Given the description of an element on the screen output the (x, y) to click on. 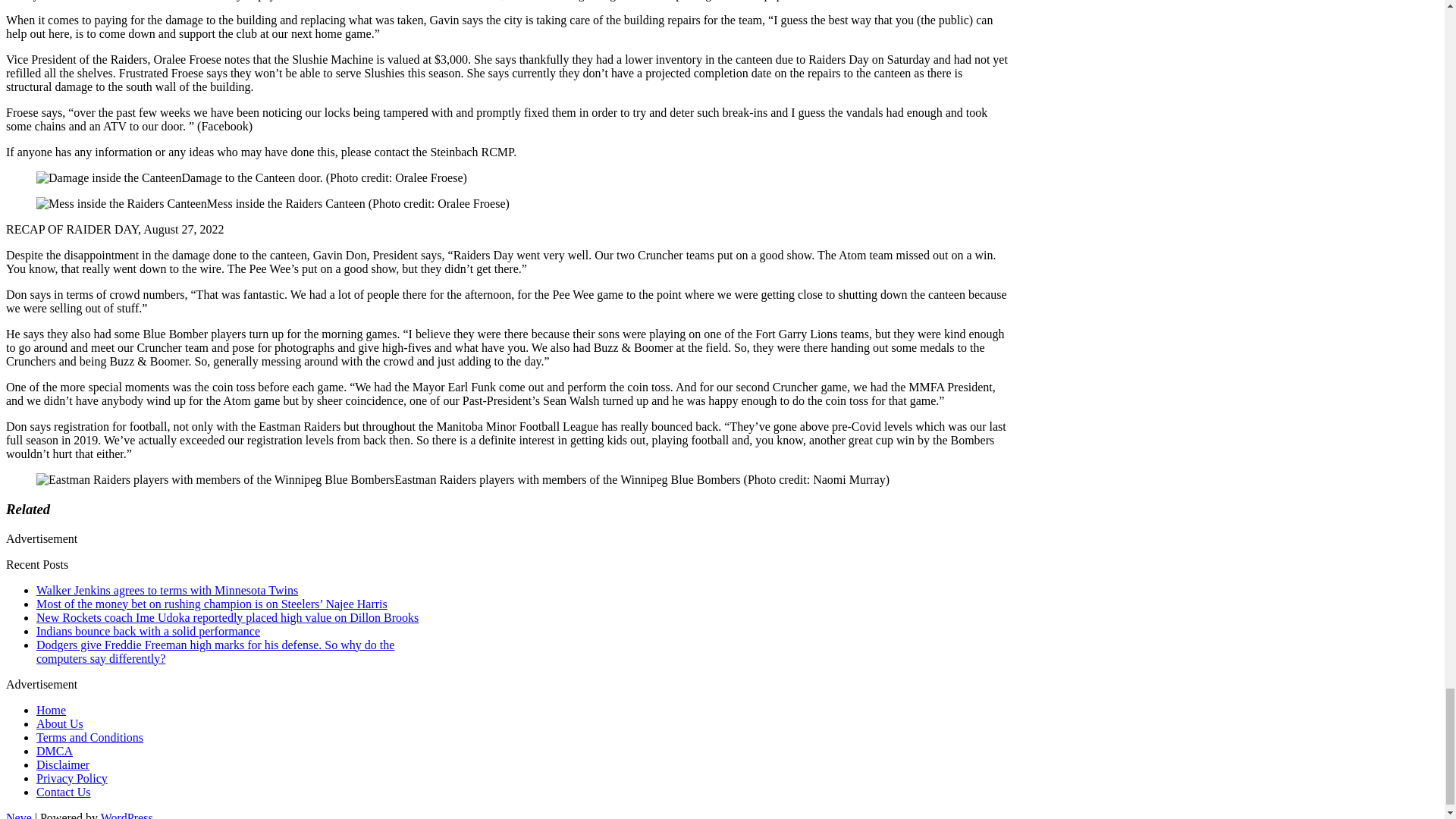
Walker Jenkins agrees to terms with Minnesota Twins (167, 590)
Disclaimer (62, 764)
About Us (59, 723)
Contact Us (63, 791)
DMCA (54, 750)
Indians bounce back with a solid performance (148, 631)
Privacy Policy (71, 778)
Home (50, 709)
Terms and Conditions (89, 737)
